Given the description of an element on the screen output the (x, y) to click on. 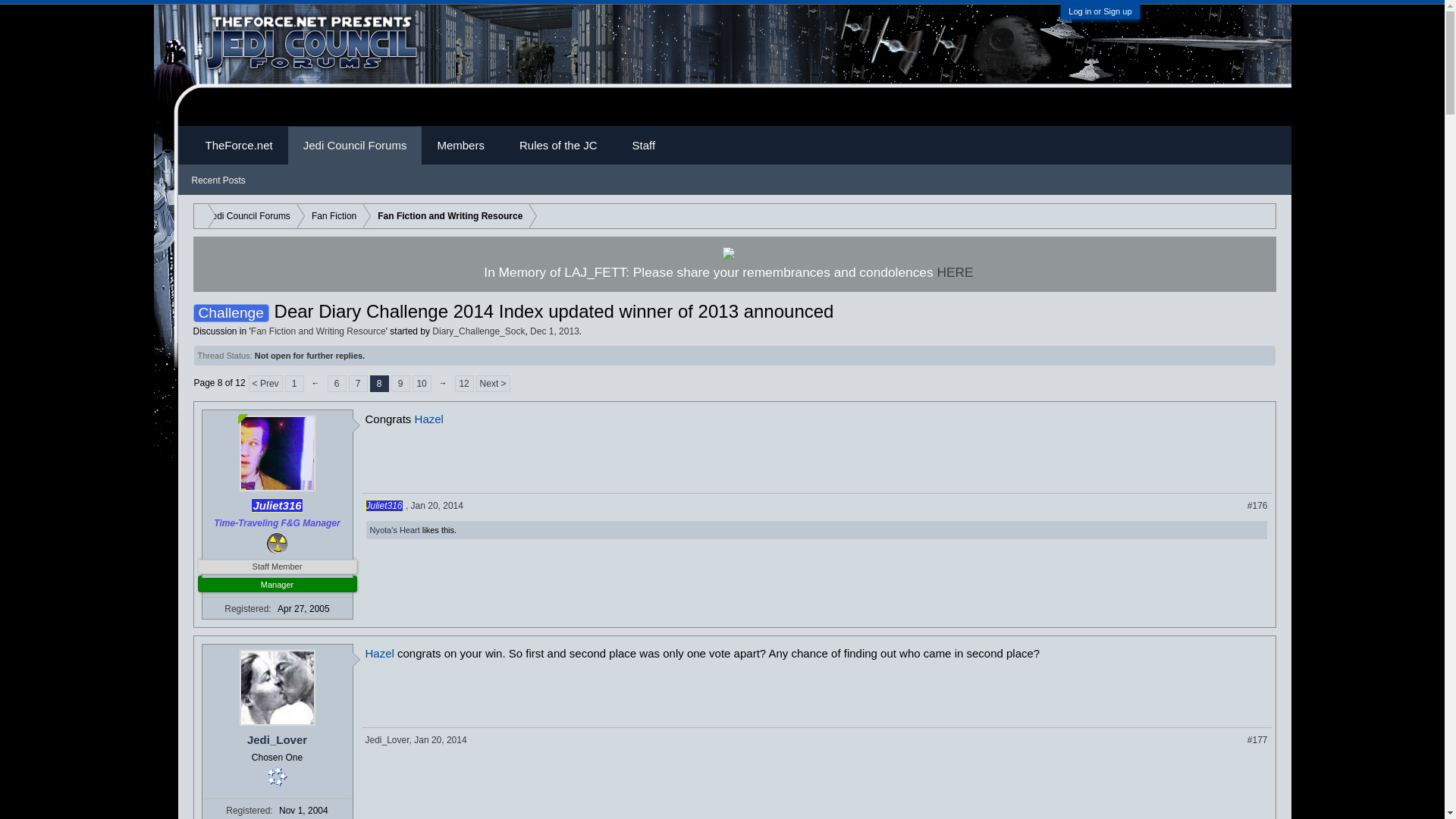
Nyota's Heart (394, 529)
Permalink (436, 505)
Permalink (1257, 739)
Jan 20, 2014 (378, 383)
Hazel (436, 505)
Fan Fiction (379, 653)
Open quick navigation (331, 216)
7,743 posts (1263, 214)
Jedi Council Forums (276, 776)
Fan Fiction and Writing Resource (245, 216)
7 (446, 216)
9 (358, 383)
1 (400, 383)
Dec 1, 2013 at 11:27 PM (294, 383)
